Given the description of an element on the screen output the (x, y) to click on. 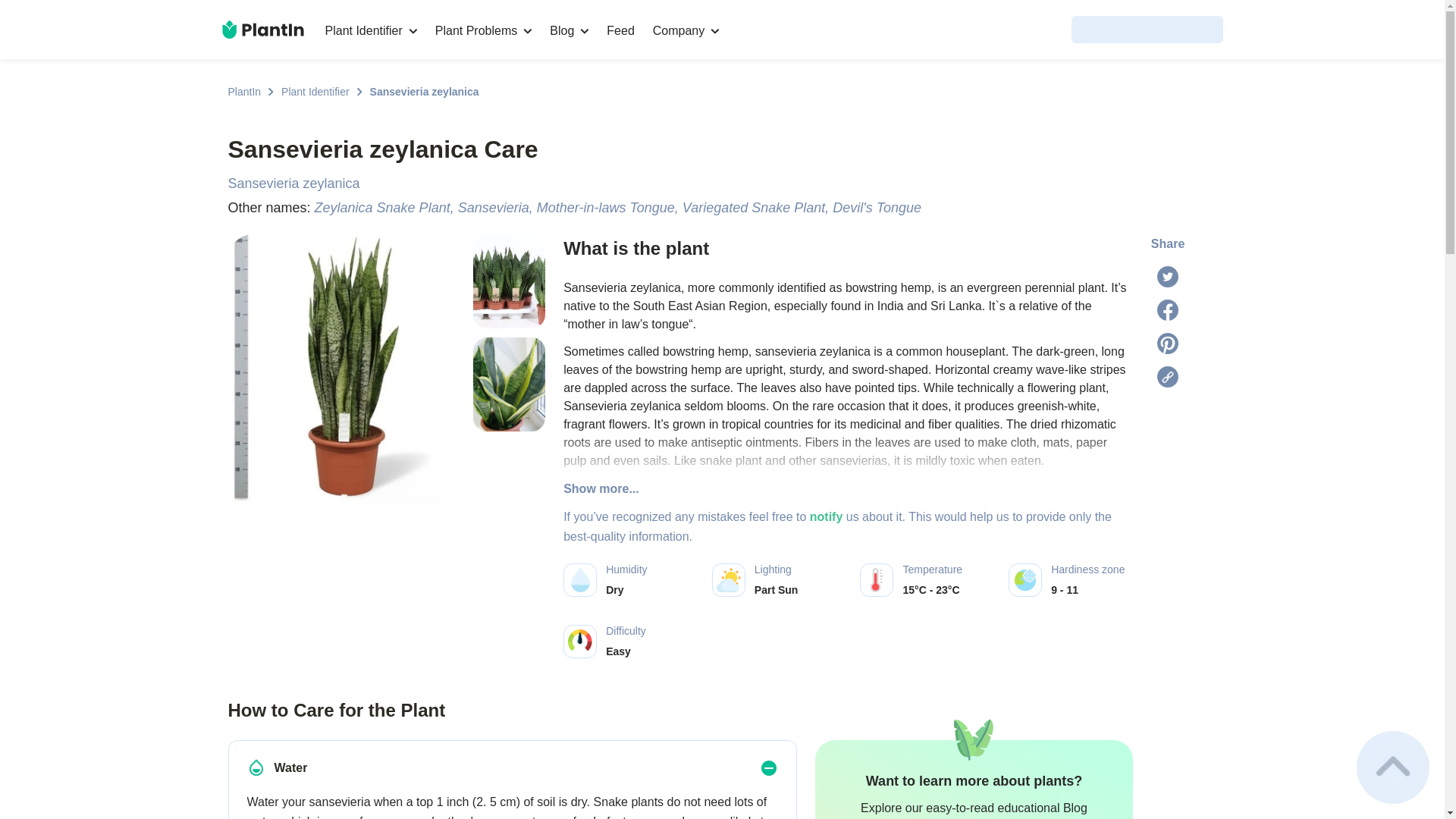
notify (825, 516)
Show more... (847, 488)
Company (685, 31)
Difficulty (579, 641)
Plant Problems (483, 31)
Feed (619, 31)
Water (255, 768)
Sansevieria zeylanica main (343, 385)
Lighting (728, 580)
Temperature (876, 580)
PlantIn (243, 91)
Sansevieria zeylanica 1 (508, 384)
Sansevieria zeylanica 0 (508, 281)
Blog (568, 31)
Home (261, 29)
